Given the description of an element on the screen output the (x, y) to click on. 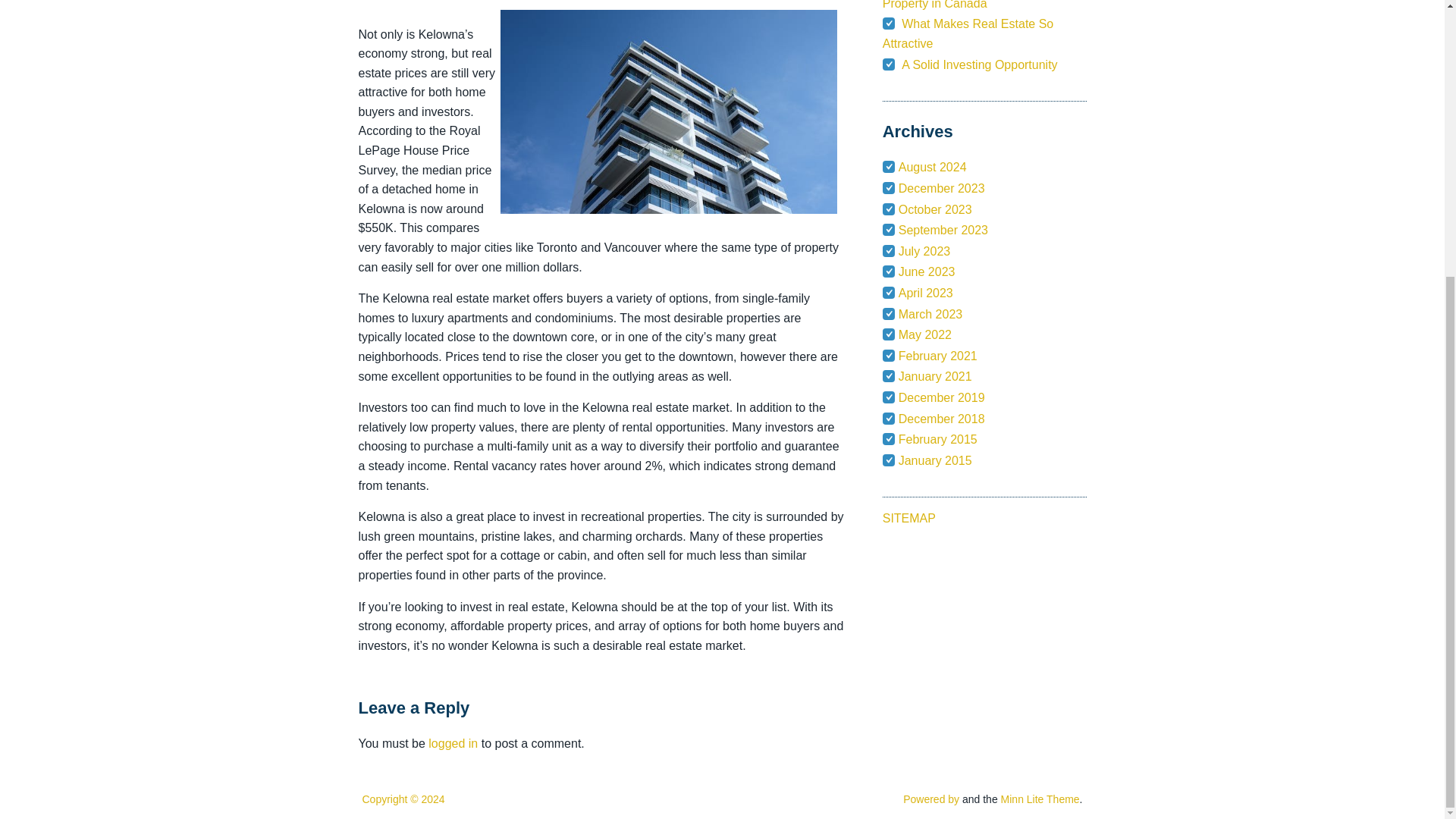
SITEMAP (909, 517)
December 2023 (941, 187)
logged in (452, 743)
June 2023 (926, 271)
What Makes Real Estate So Attractive (968, 33)
May 2022 (925, 334)
August 2024 (932, 166)
April 2023 (925, 292)
December 2018 (941, 418)
December 2019 (941, 397)
